Given the description of an element on the screen output the (x, y) to click on. 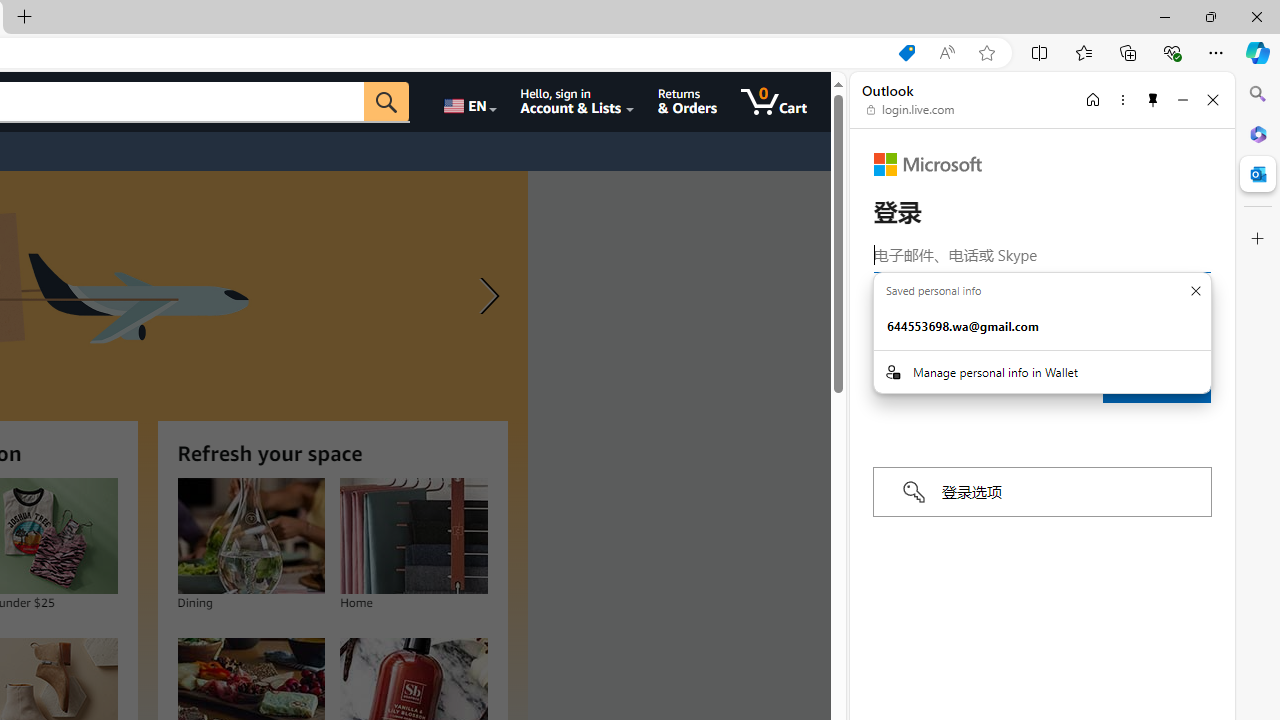
Hello, sign in Account & Lists (576, 101)
Dining (250, 536)
login.live.com (911, 110)
0 items in cart (774, 101)
Dining (250, 536)
